Given the description of an element on the screen output the (x, y) to click on. 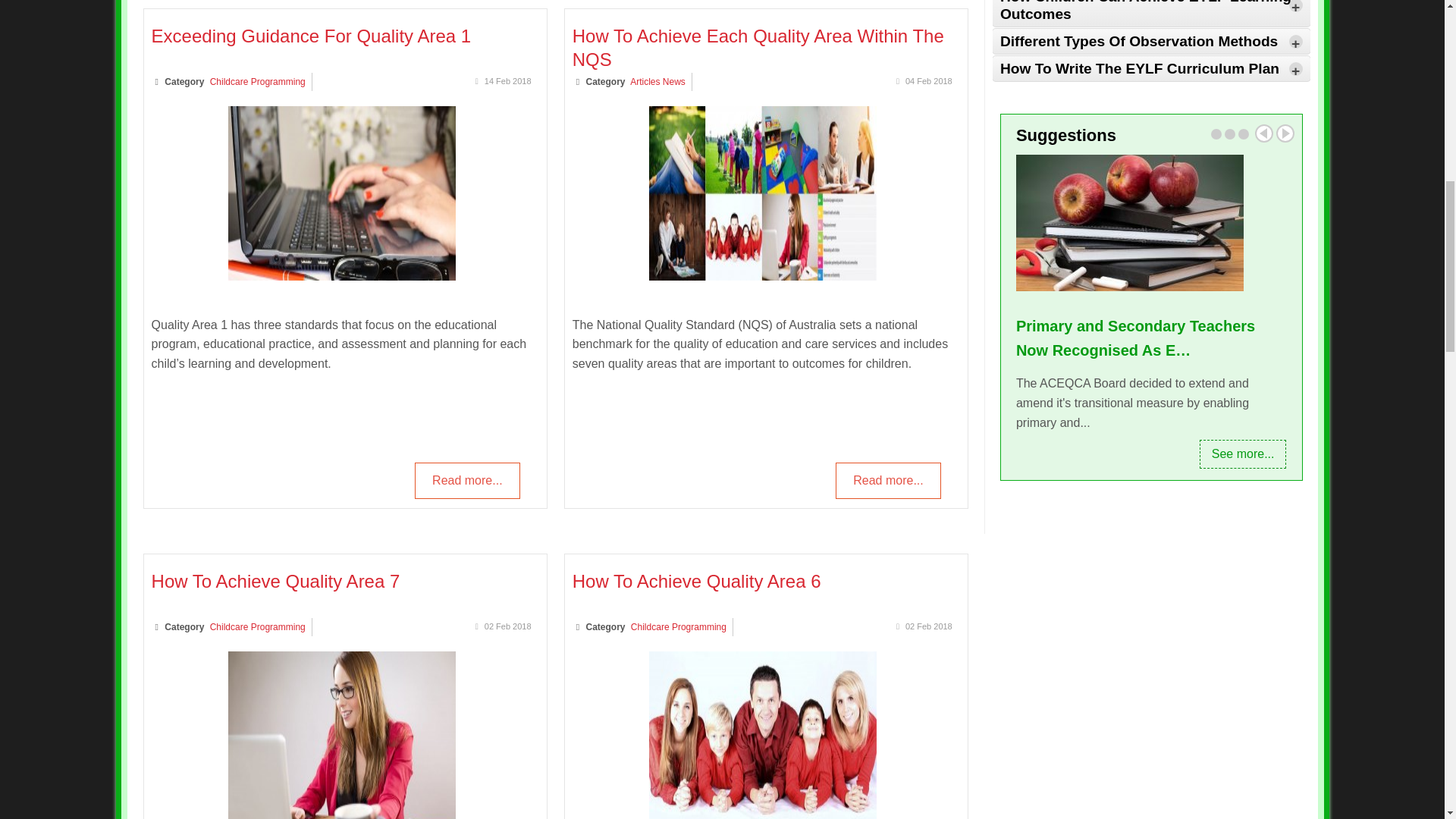
Childcare Programming (257, 81)
How To Achieve Each Quality Area Within The NQS (762, 276)
How To Achieve Quality Area 6 (762, 816)
Childcare Programming (257, 626)
How To Achieve Each Quality Area Within The NQS (757, 47)
How To Achieve Quality Area 7 (341, 816)
How To Achieve Quality Area 6 (696, 580)
How To Achieve Quality Area 7 (275, 580)
Exceeding Guidance For Quality Area 1 (341, 276)
